Given the description of an element on the screen output the (x, y) to click on. 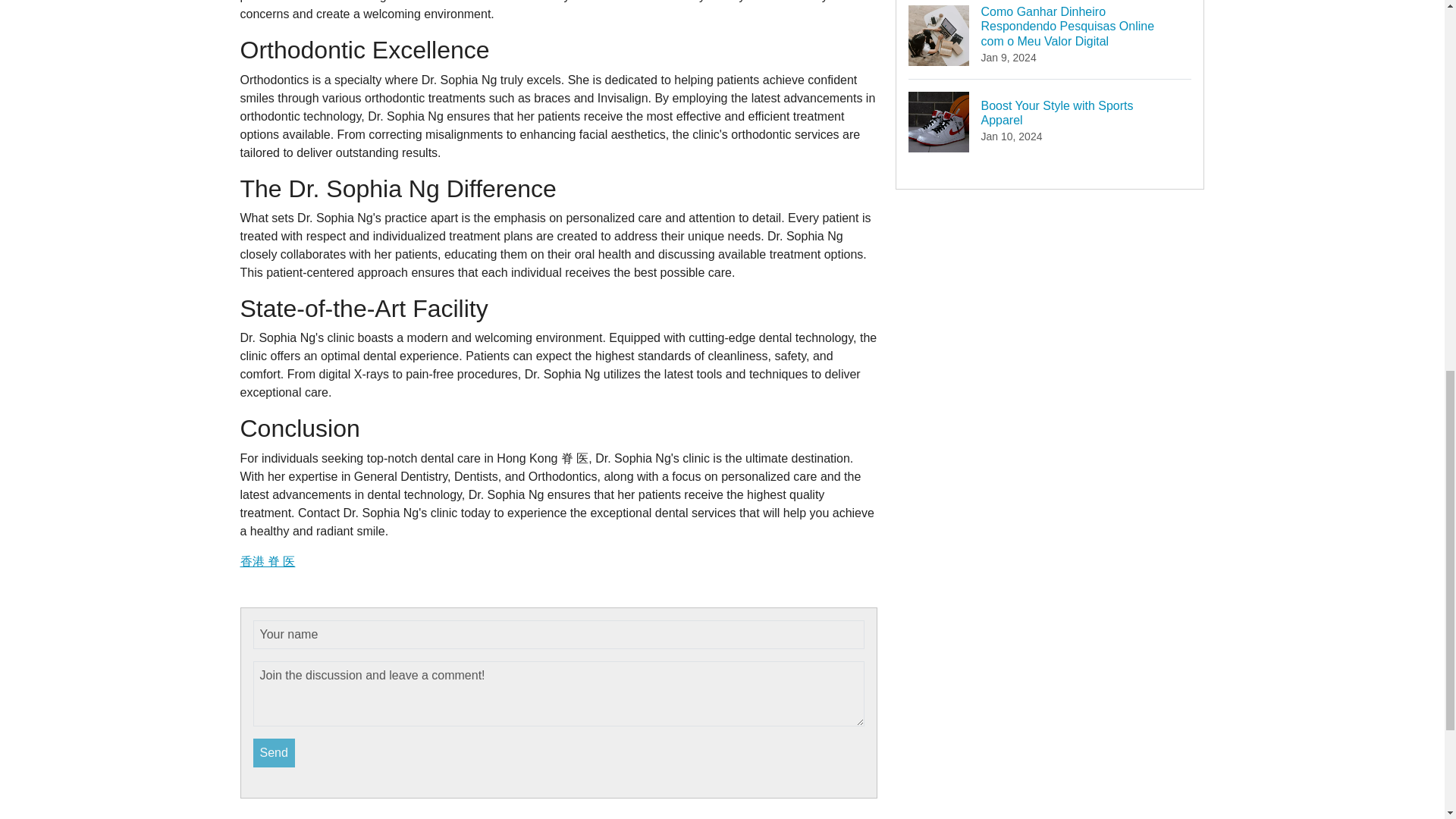
Send (1050, 121)
Send (274, 752)
